Given the description of an element on the screen output the (x, y) to click on. 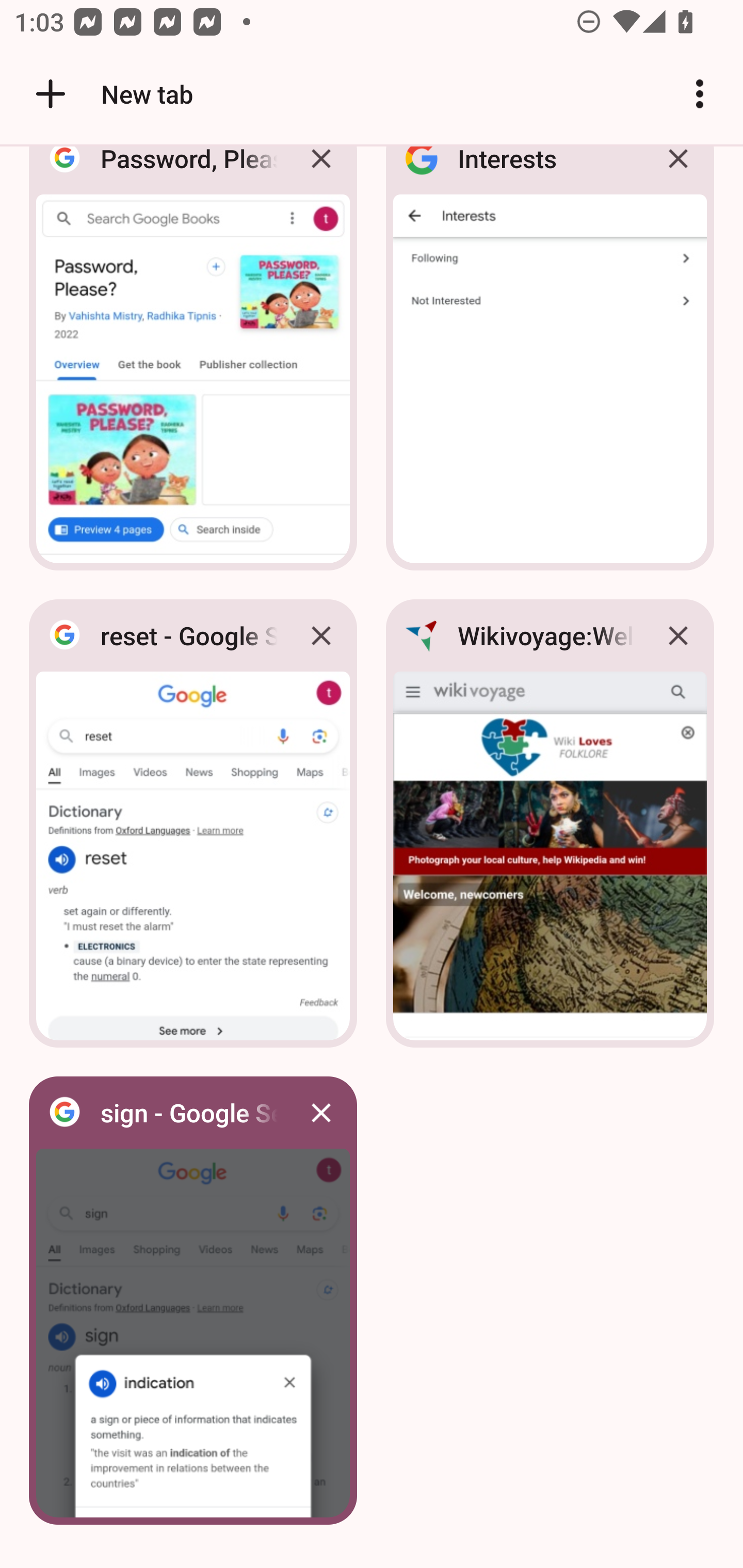
New tab (111, 93)
Customize and control Google Chrome (699, 93)
Close Password, Please? - Google Books tab (320, 173)
Interests Interests, tab Close Interests tab (549, 364)
Close Interests tab (677, 173)
Close reset - Google Search tab (320, 635)
Close sign - Google Search tab (320, 1112)
